Given the description of an element on the screen output the (x, y) to click on. 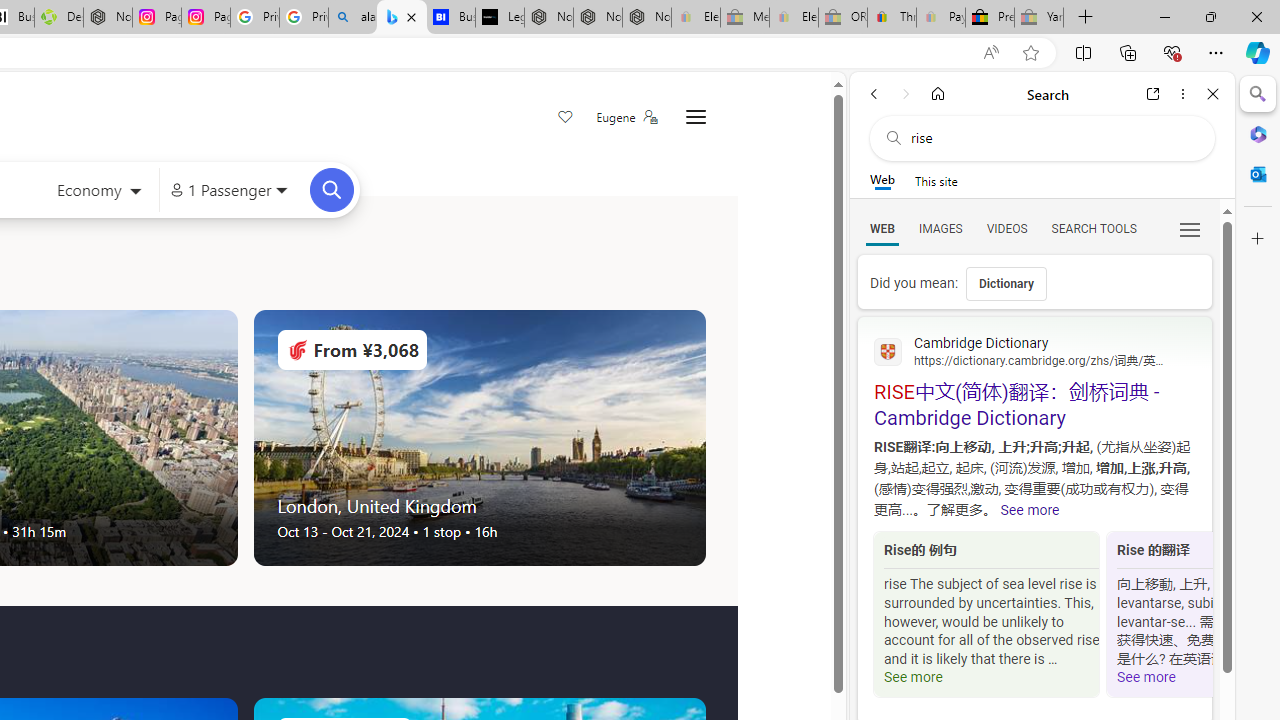
Dictionary (1006, 283)
